Given the description of an element on the screen output the (x, y) to click on. 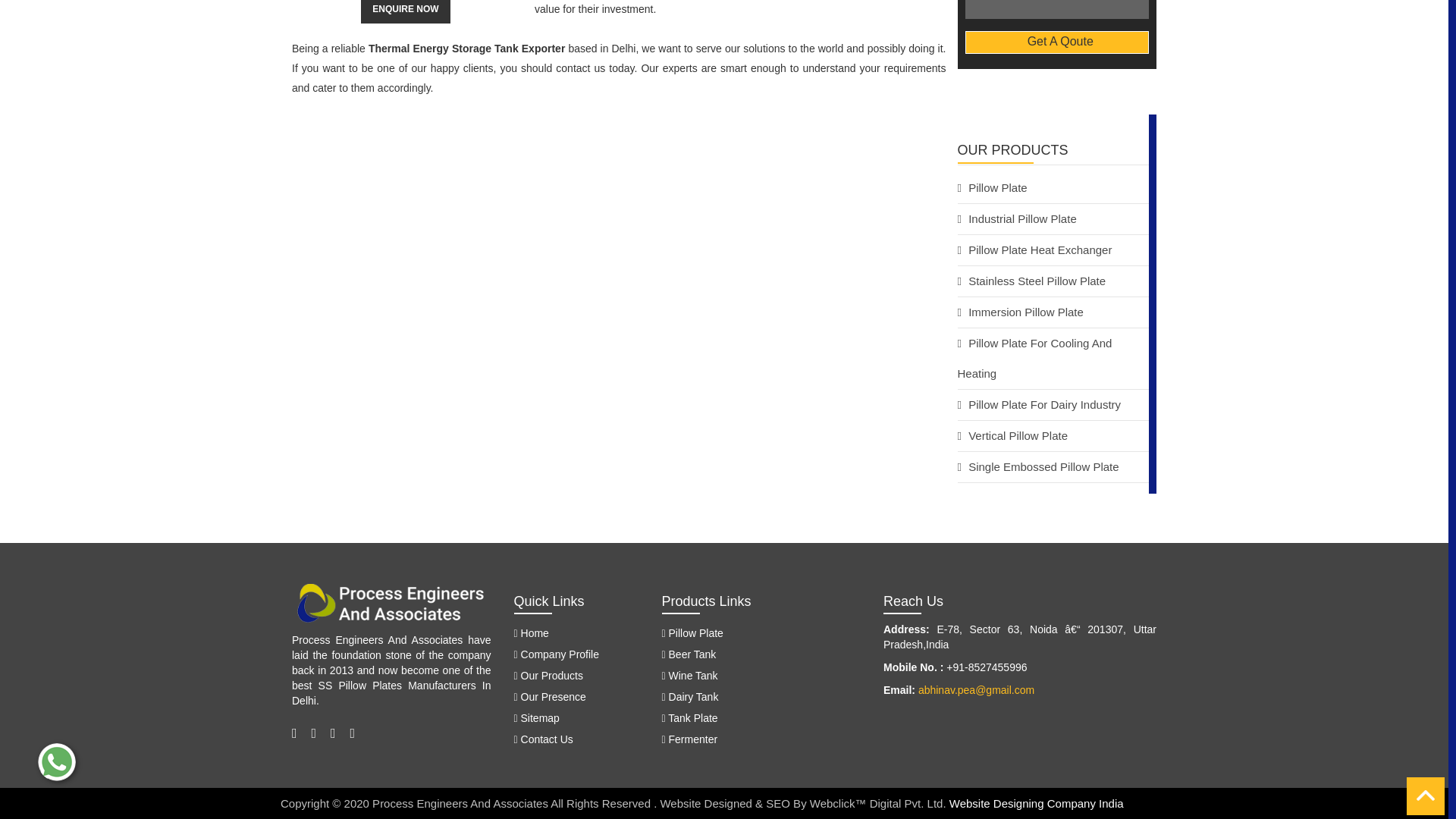
Get A Qoute (1055, 42)
